Given the description of an element on the screen output the (x, y) to click on. 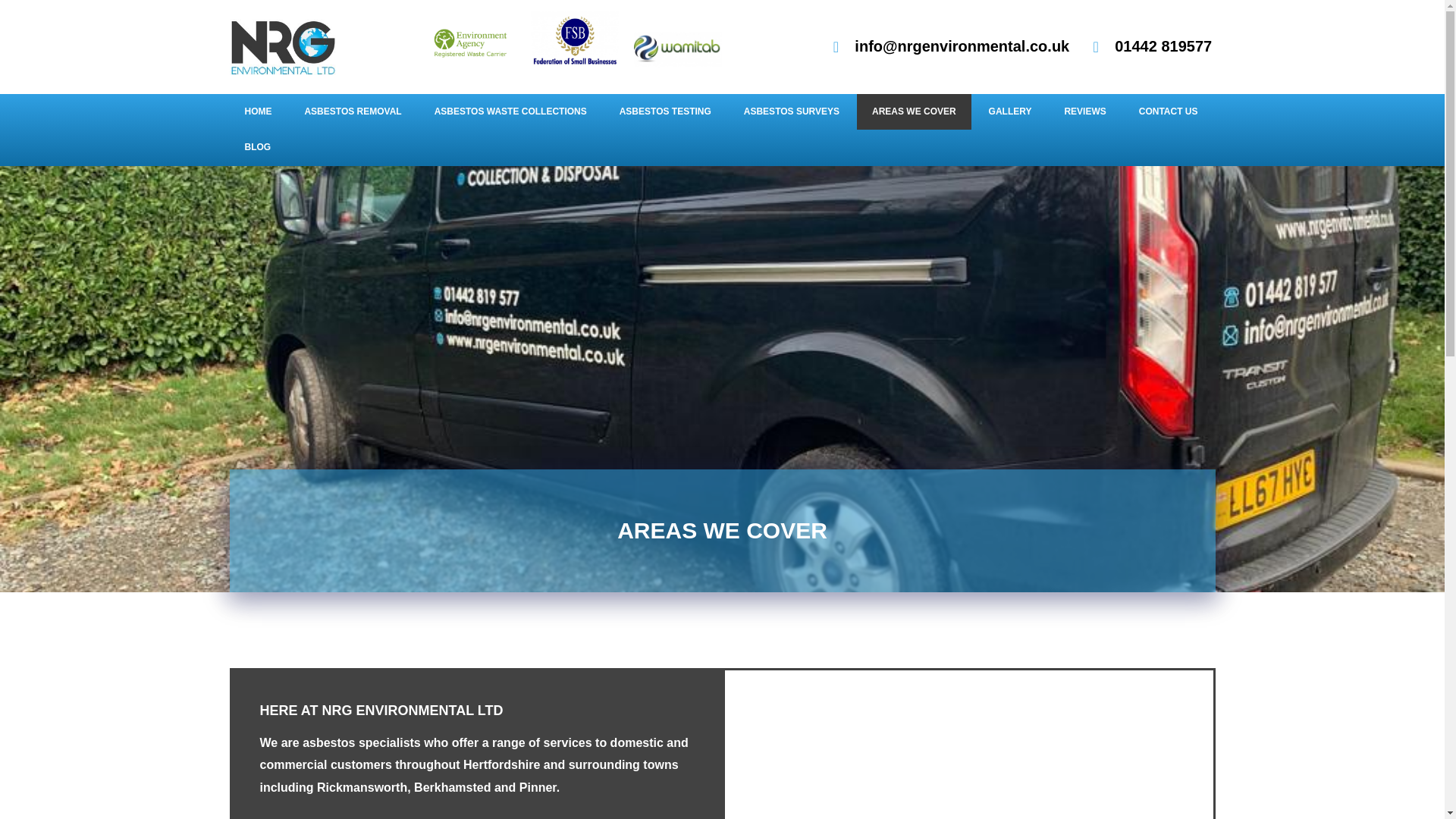
01442 819577 (1149, 46)
CONTACT US (1168, 112)
HOME (257, 112)
REVIEWS (1084, 112)
ASBESTOS REMOVAL (352, 112)
NRG Environmental (1007, 760)
ASBESTOS TESTING (665, 112)
ASBESTOS SURVEYS (791, 112)
ASBESTOS WASTE COLLECTIONS (510, 112)
BLOG (256, 147)
GALLERY (1010, 112)
AREAS WE COVER (914, 112)
